Given the description of an element on the screen output the (x, y) to click on. 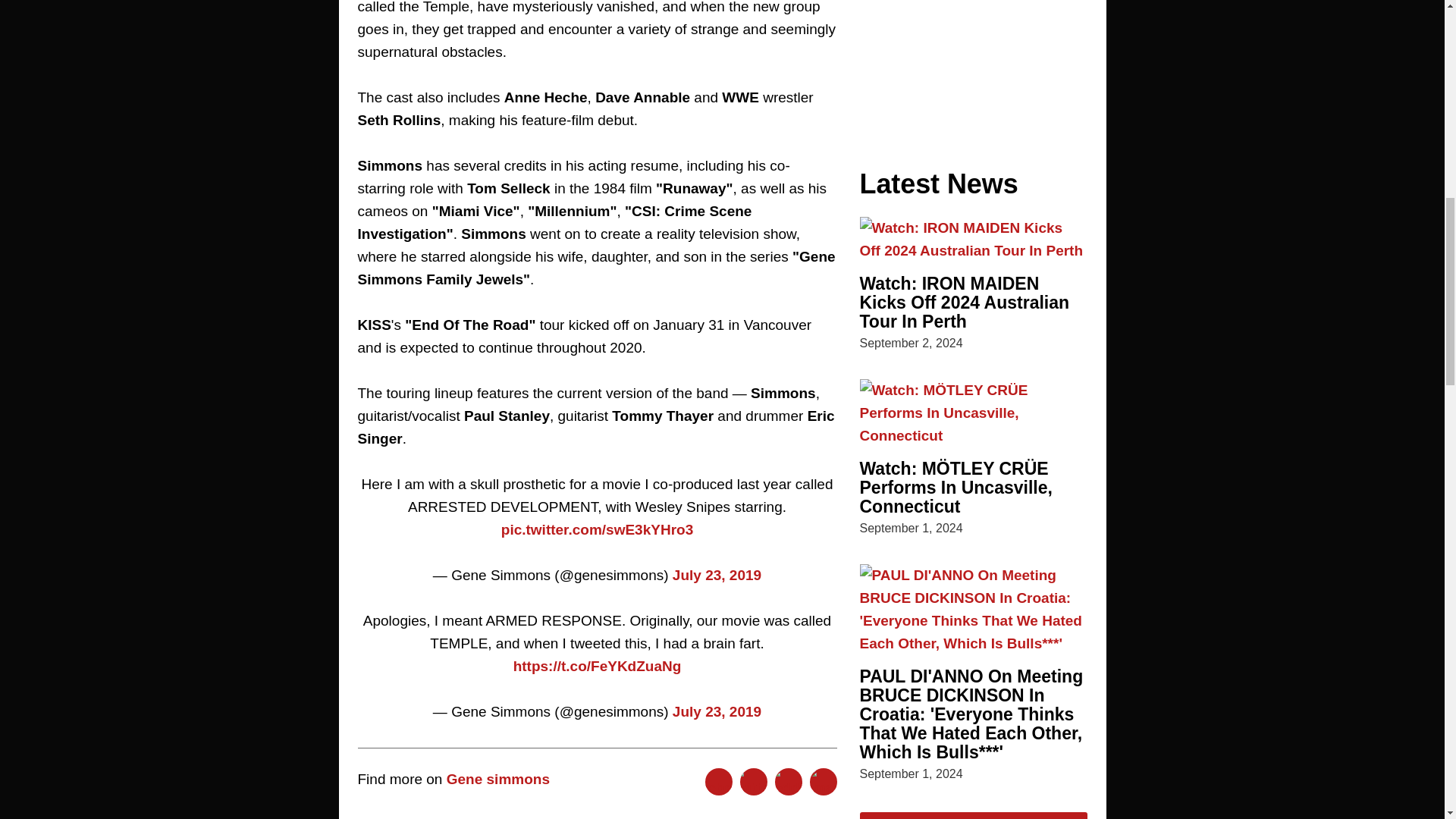
July 23, 2019 (716, 711)
Copy To Clipboard (823, 781)
Share On Reddit (788, 781)
Gene simmons (498, 779)
Share On Facebook (718, 781)
Share On Twitter (753, 781)
July 23, 2019 (716, 575)
Watch: IRON MAIDEN Kicks Off 2024 Australian Tour In Perth (965, 302)
